Given the description of an element on the screen output the (x, y) to click on. 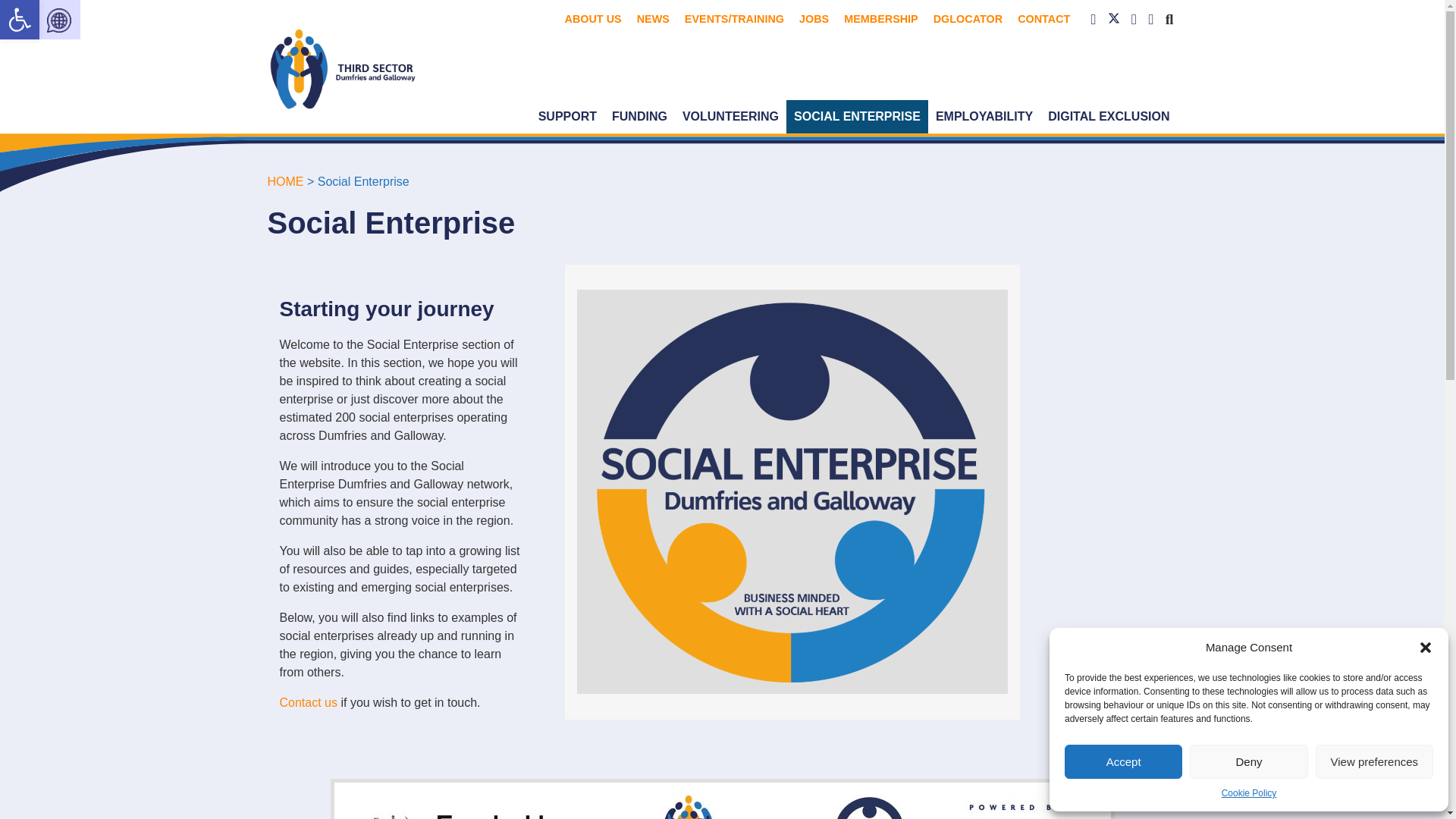
Accessibility Tools (19, 19)
Cookie Policy (19, 19)
Deny (1248, 793)
Follow us on Insta (1248, 761)
View preferences (1135, 19)
Accept (1374, 761)
Follow us on Facebook (1123, 761)
Follow us on Twitter (1094, 19)
Accessibility Tools (1114, 19)
